Given the description of an element on the screen output the (x, y) to click on. 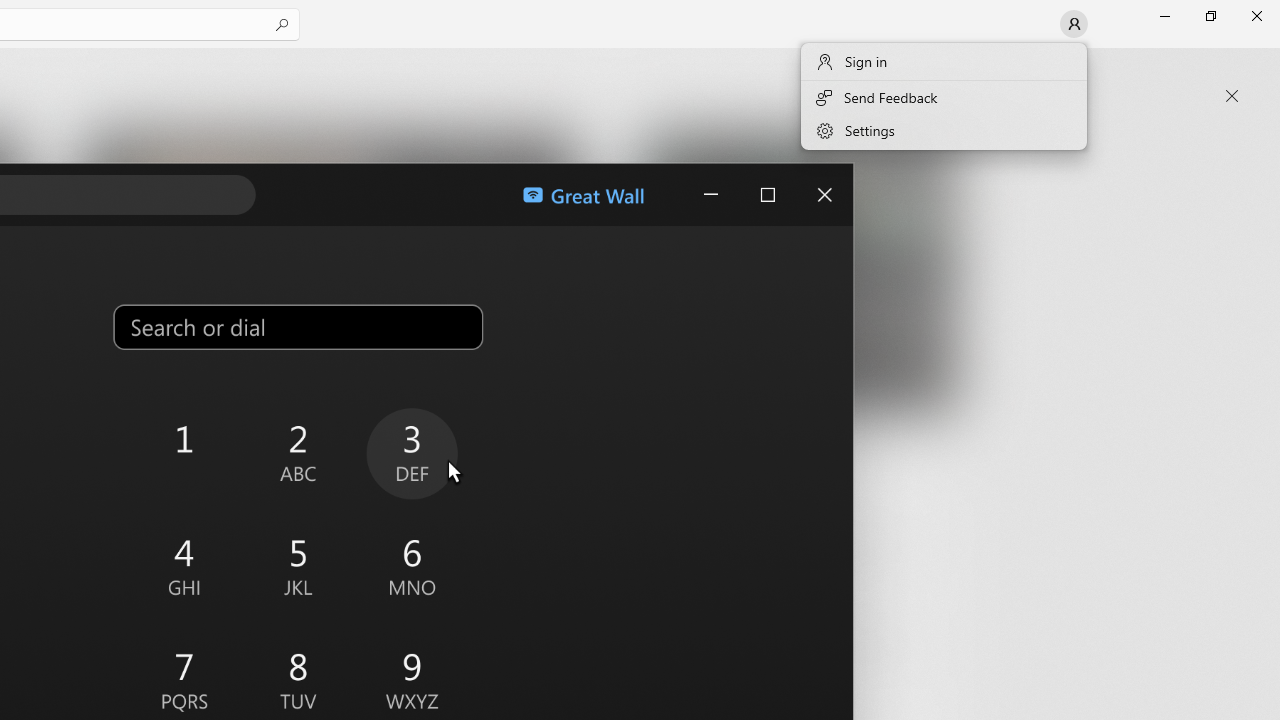
Screenshot 2 (330, 279)
See all (924, 72)
Screenshot 3 (788, 279)
close popup window (1232, 95)
